Given the description of an element on the screen output the (x, y) to click on. 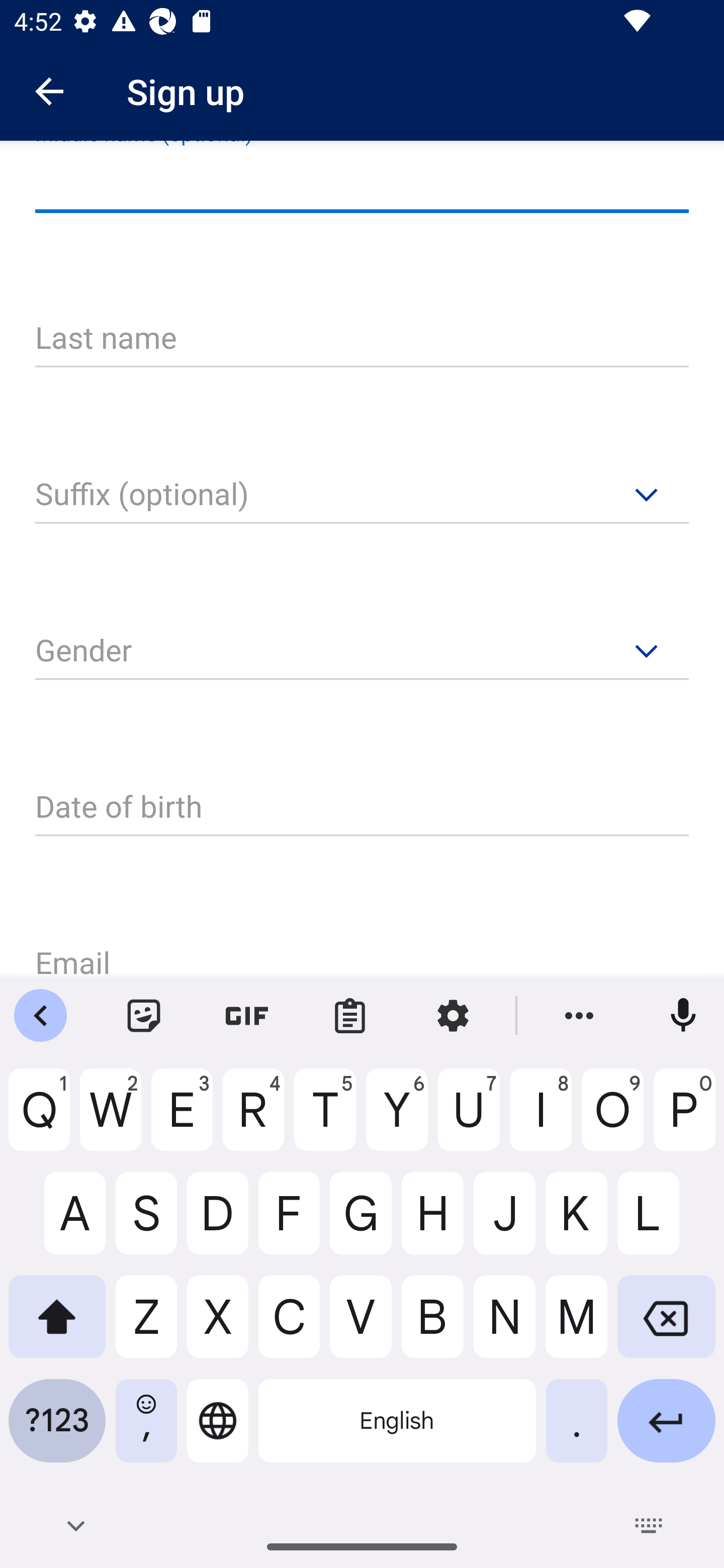
Navigate up (49, 91)
Middle name (optional) (361, 183)
Last name (361, 338)
Password (361, 511)
Show (643, 510)
Gender (361, 651)
Date of birth (361, 807)
Email (361, 948)
